Given the description of an element on the screen output the (x, y) to click on. 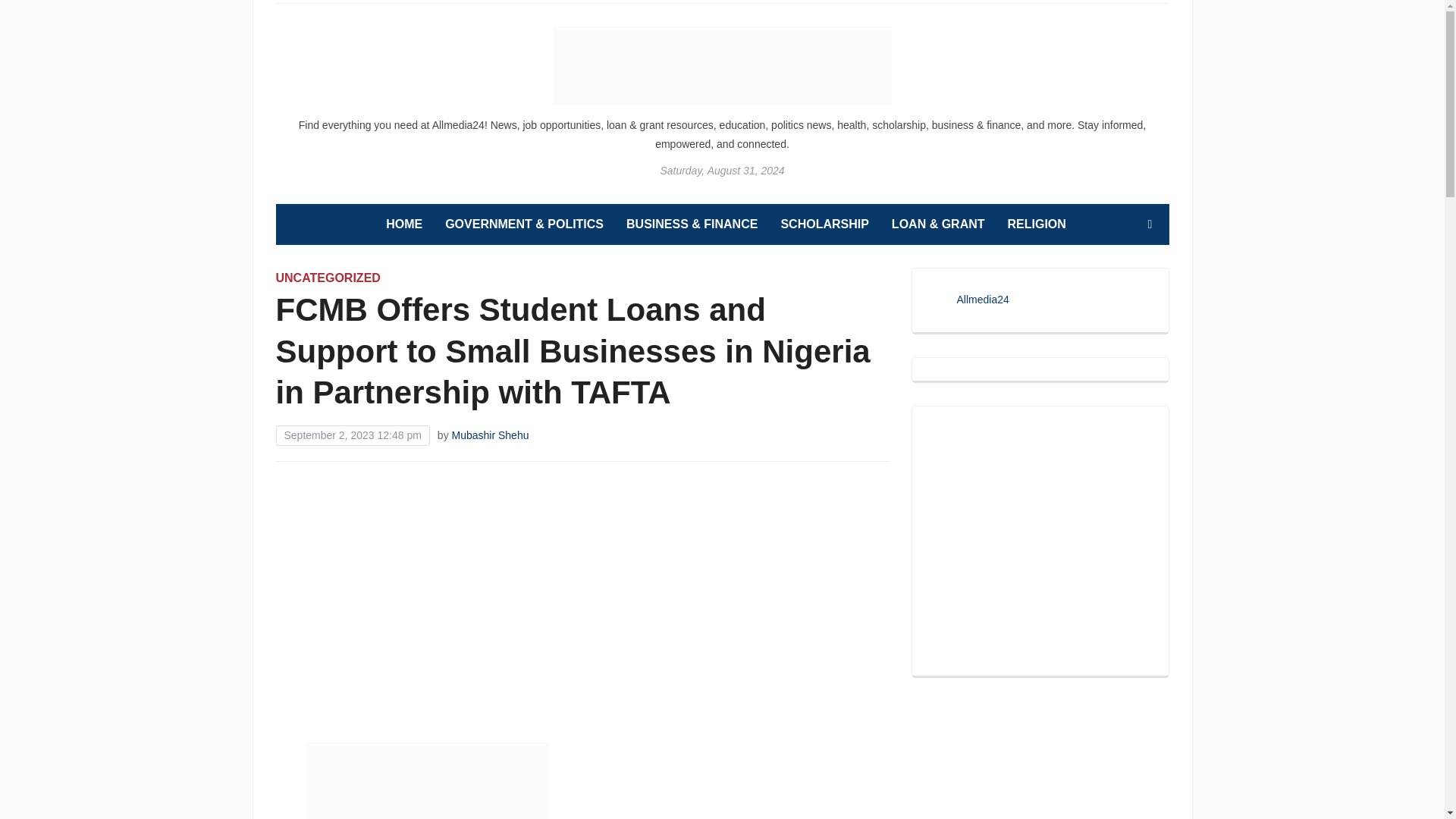
HOME (403, 224)
UNCATEGORIZED (328, 277)
RELIGION (1036, 224)
Search (1149, 224)
SCHOLARSHIP (823, 224)
Mubashir Shehu (490, 435)
